Given the description of an element on the screen output the (x, y) to click on. 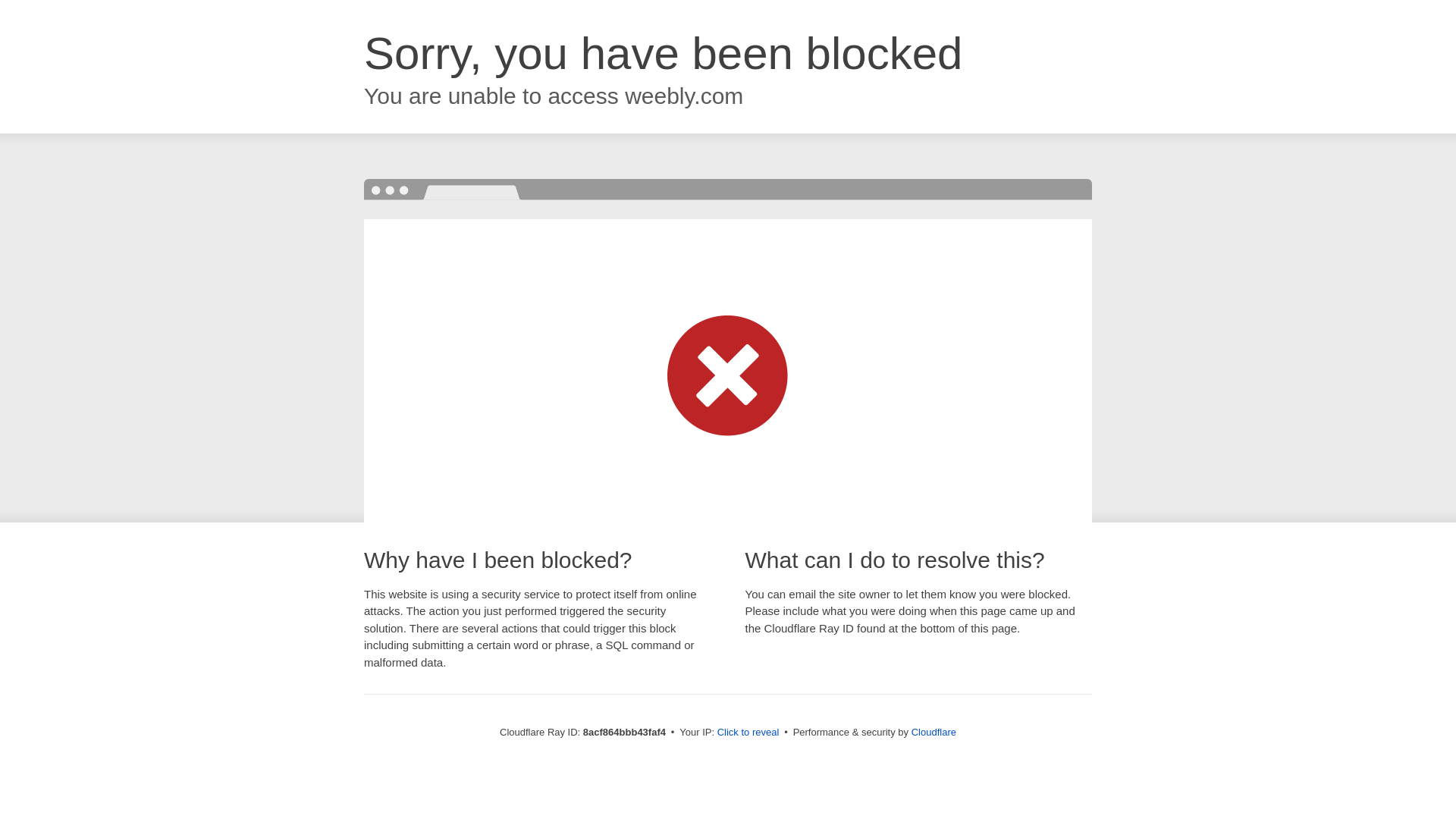
Cloudflare (933, 731)
Click to reveal (747, 732)
